Given the description of an element on the screen output the (x, y) to click on. 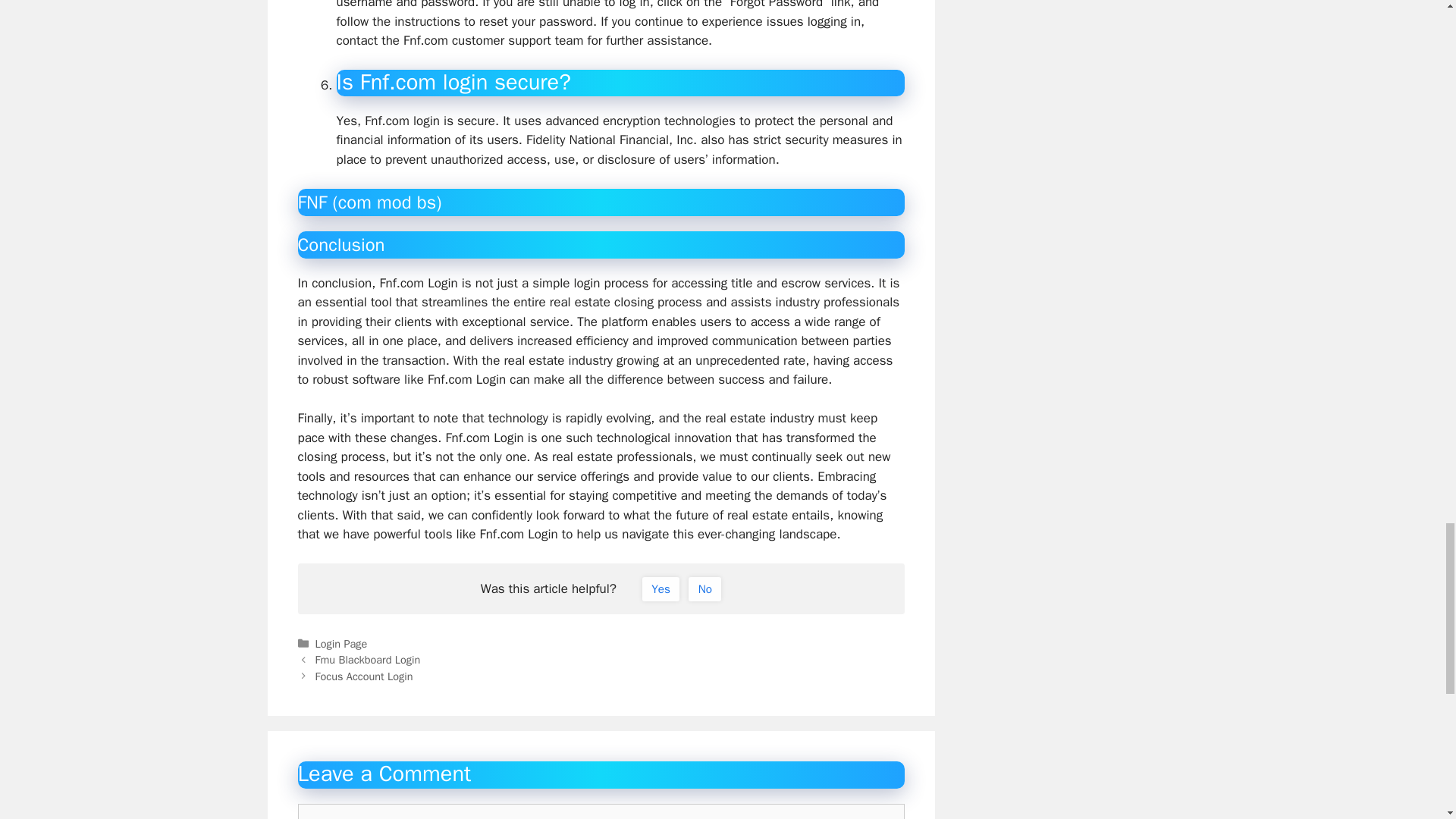
Login Page (341, 643)
Focus Account Login (364, 676)
Fmu Blackboard Login (367, 659)
